Given the description of an element on the screen output the (x, y) to click on. 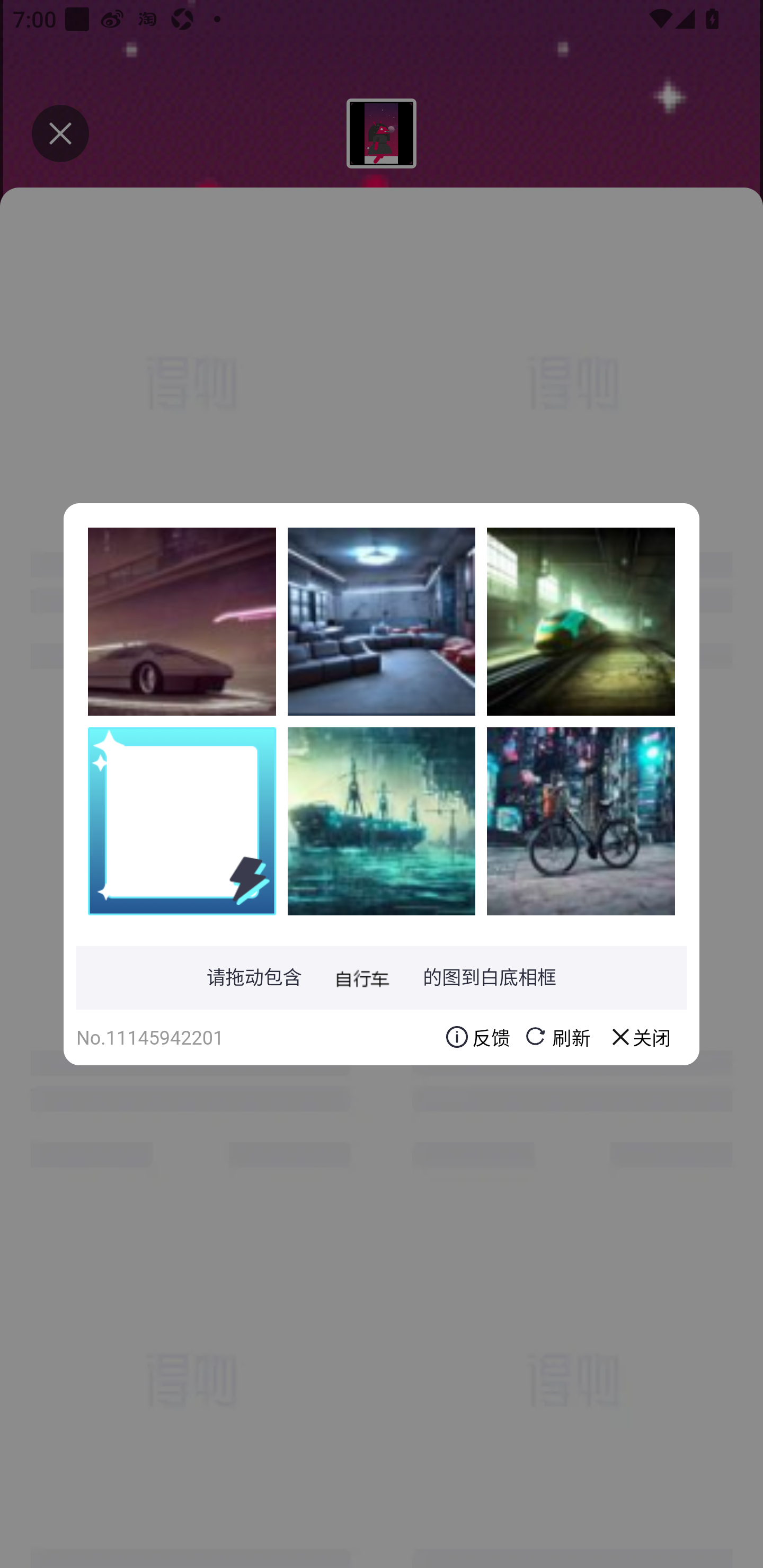
W (381, 820)
